Given the description of an element on the screen output the (x, y) to click on. 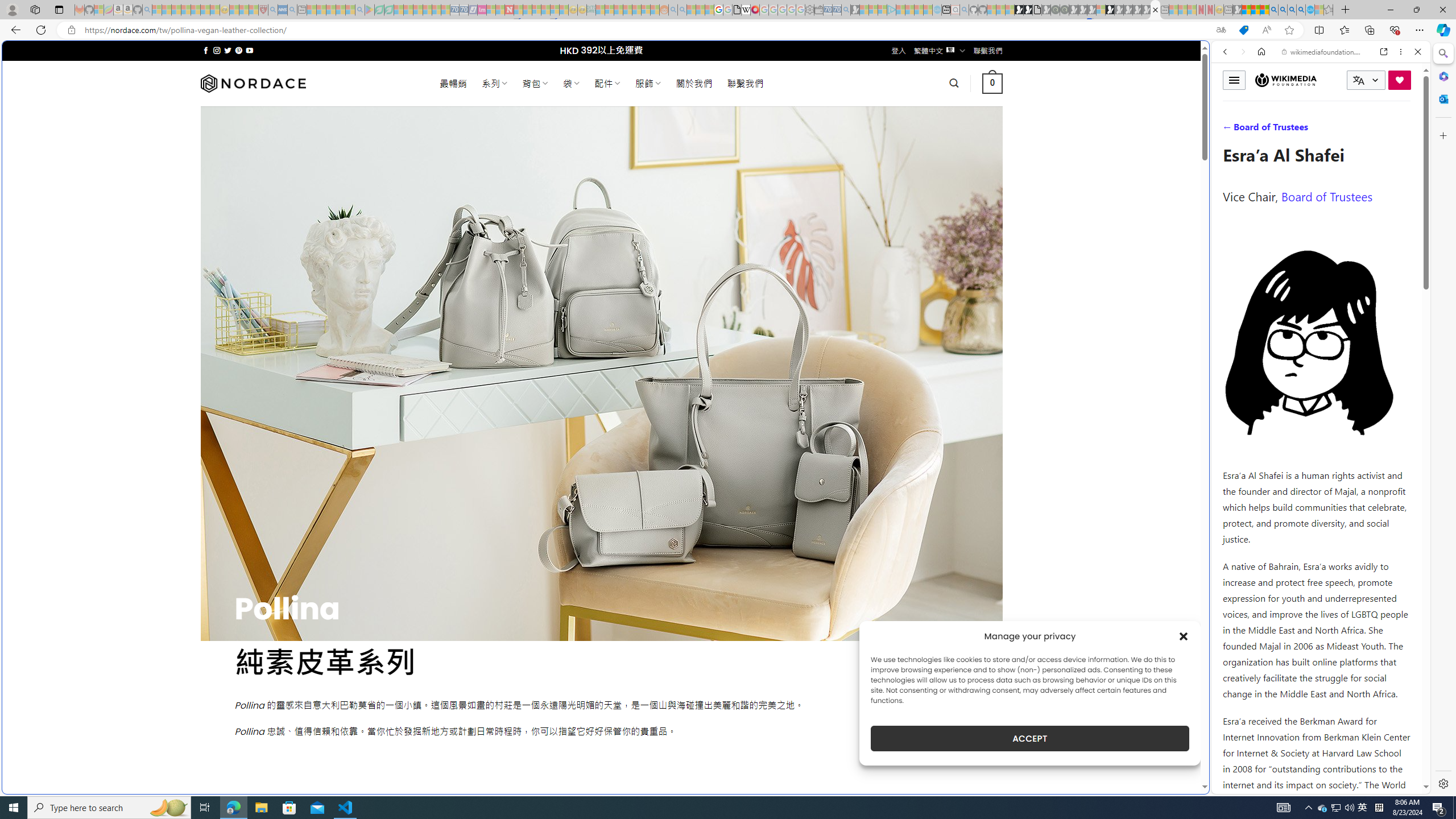
Nordace - Pollina Vegan Leather Collection (1154, 9)
CURRENT LANGUAGE: (1366, 80)
Target page - Wikipedia (745, 9)
